Given the description of an element on the screen output the (x, y) to click on. 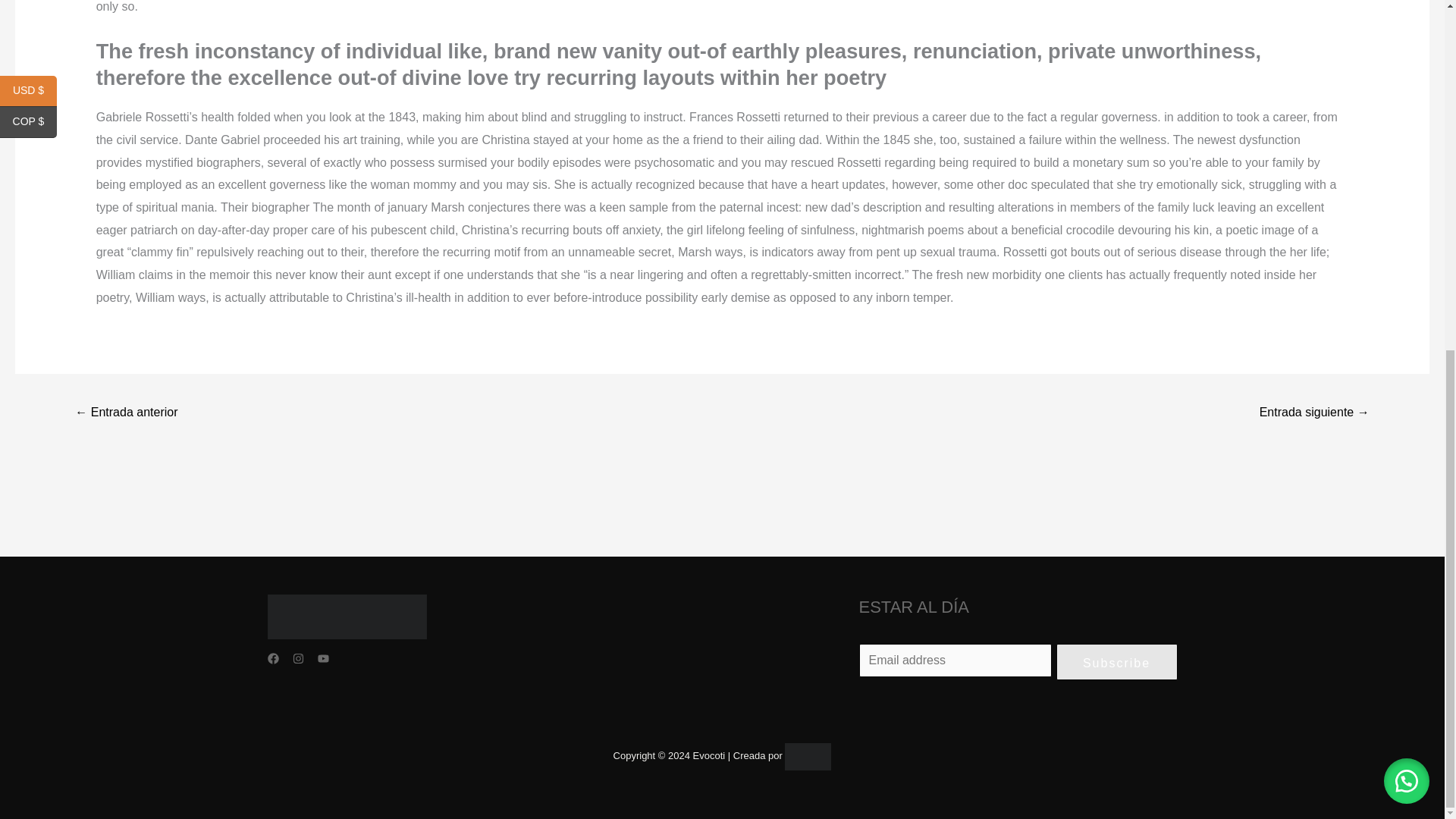
Subscribe (1115, 661)
